Given the description of an element on the screen output the (x, y) to click on. 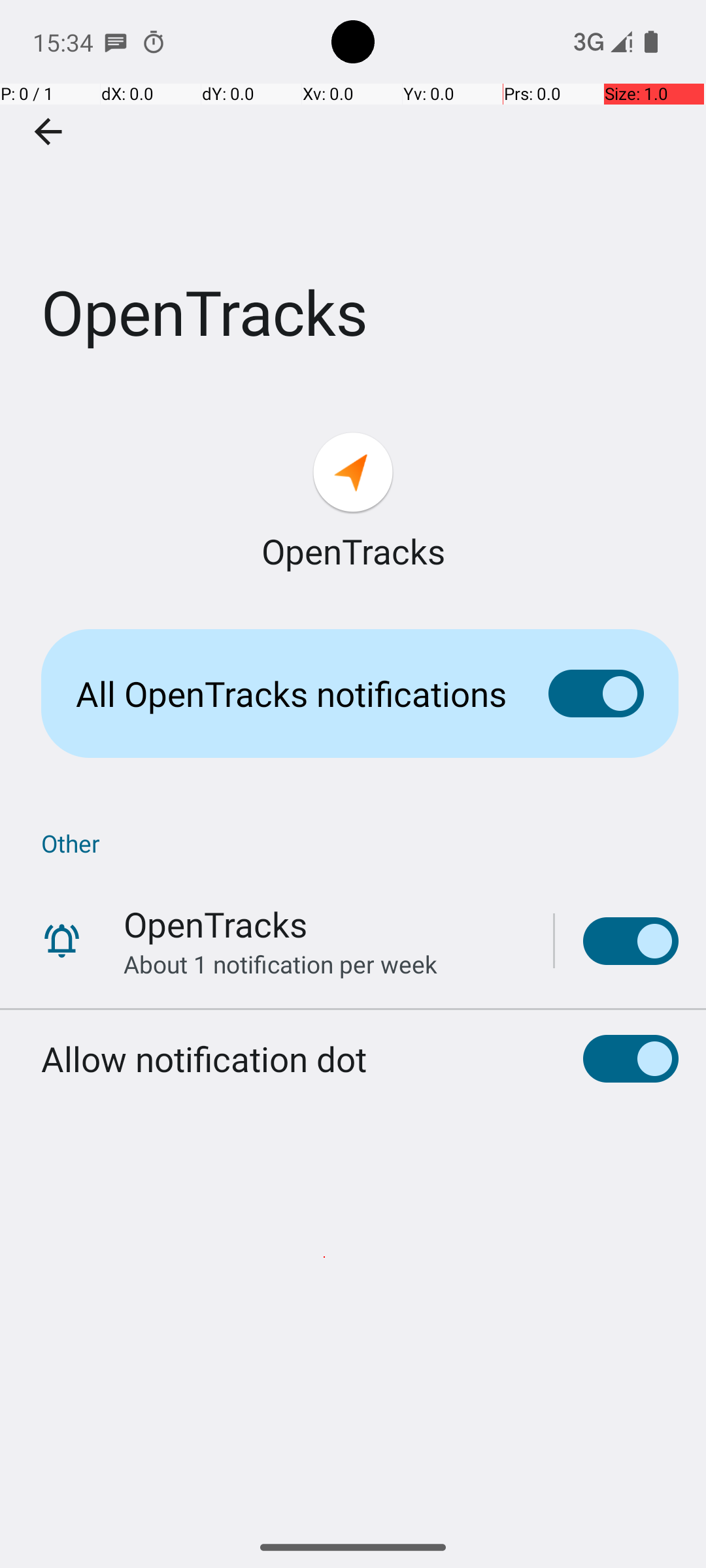
All OpenTracks notifications Element type: android.widget.TextView (291, 693)
About 1 notification per week Element type: android.widget.TextView (280, 963)
